Given the description of an element on the screen output the (x, y) to click on. 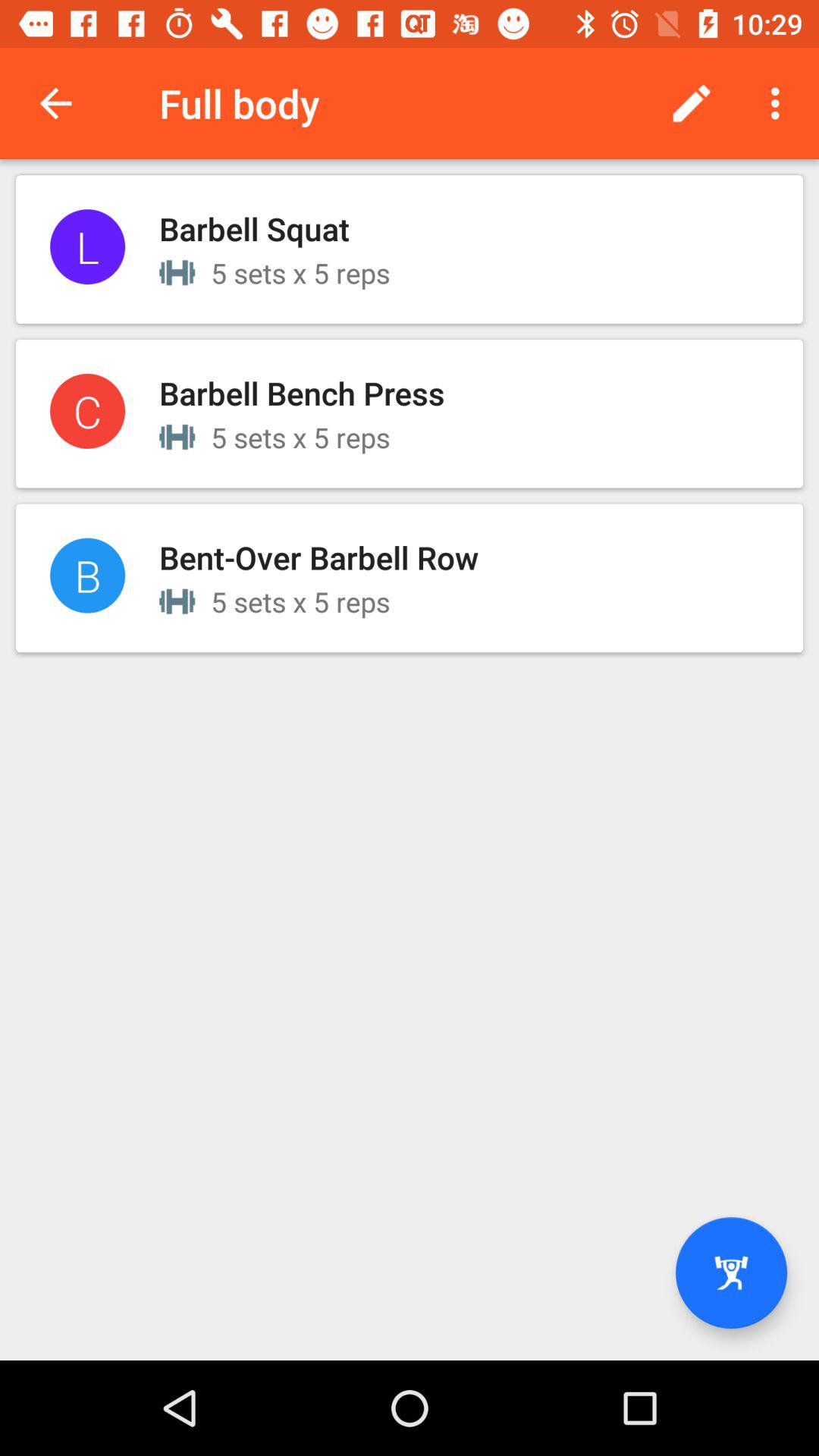
click the item next to the full body (55, 103)
